Given the description of an element on the screen output the (x, y) to click on. 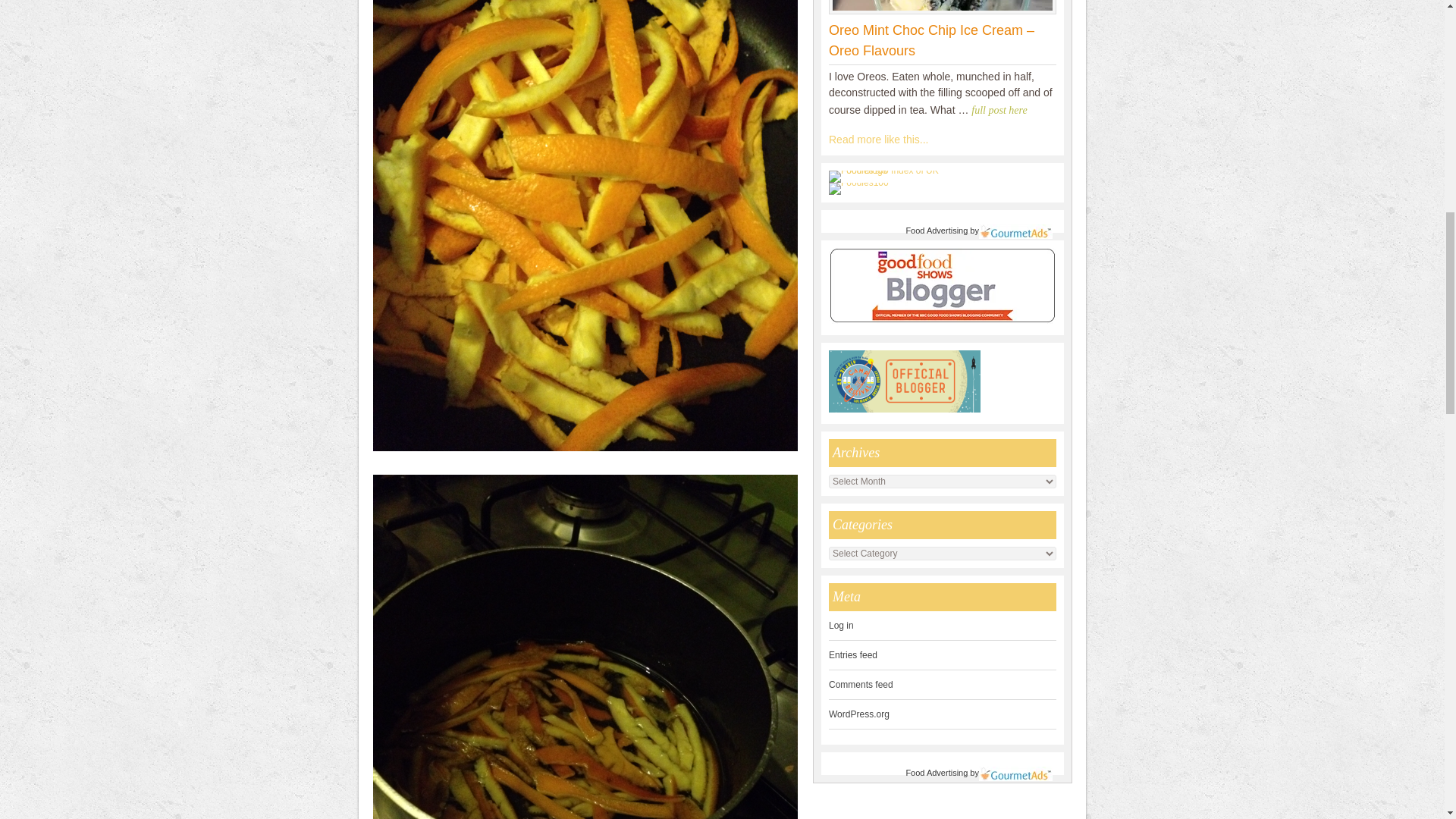
Foodies100 Index of UK Food Blogs (890, 170)
Foodies100 (858, 182)
Recipe Development (878, 139)
full post here (1001, 110)
Foodies100 Index of UK Food Blogs (890, 176)
Food Advertising (936, 230)
Foodies100 (858, 188)
Food Advertising (936, 772)
